Given the description of an element on the screen output the (x, y) to click on. 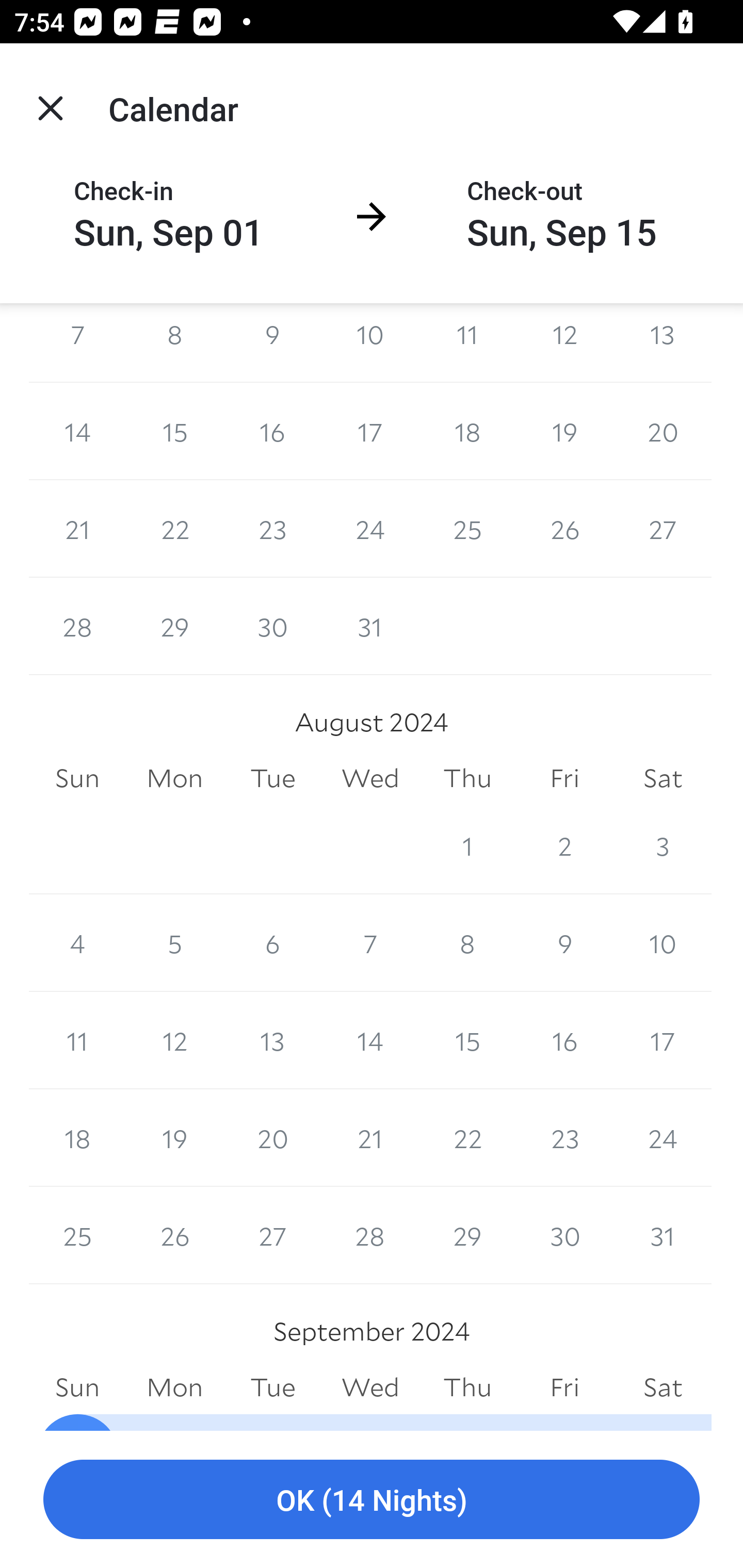
7 7 July 2024 (77, 342)
8 8 July 2024 (174, 342)
9 9 July 2024 (272, 342)
10 10 July 2024 (370, 342)
11 11 July 2024 (467, 342)
12 12 July 2024 (564, 342)
13 13 July 2024 (662, 342)
14 14 July 2024 (77, 430)
15 15 July 2024 (174, 430)
16 16 July 2024 (272, 430)
17 17 July 2024 (370, 430)
18 18 July 2024 (467, 430)
19 19 July 2024 (564, 430)
20 20 July 2024 (662, 430)
21 21 July 2024 (77, 528)
22 22 July 2024 (174, 528)
23 23 July 2024 (272, 528)
24 24 July 2024 (370, 528)
25 25 July 2024 (467, 528)
26 26 July 2024 (564, 528)
27 27 July 2024 (662, 528)
28 28 July 2024 (77, 626)
29 29 July 2024 (174, 626)
30 30 July 2024 (272, 626)
31 31 July 2024 (370, 626)
Sun (77, 778)
Mon (174, 778)
Tue (272, 778)
Wed (370, 778)
Thu (467, 778)
Fri (564, 778)
Sat (662, 778)
1 1 August 2024 (467, 844)
2 2 August 2024 (564, 844)
3 3 August 2024 (662, 844)
4 4 August 2024 (77, 942)
5 5 August 2024 (174, 942)
6 6 August 2024 (272, 942)
7 7 August 2024 (370, 942)
8 8 August 2024 (467, 942)
9 9 August 2024 (564, 942)
10 10 August 2024 (662, 942)
11 11 August 2024 (77, 1040)
12 12 August 2024 (174, 1040)
13 13 August 2024 (272, 1040)
14 14 August 2024 (370, 1040)
15 15 August 2024 (467, 1040)
16 16 August 2024 (564, 1040)
17 17 August 2024 (662, 1040)
